Given the description of an element on the screen output the (x, y) to click on. 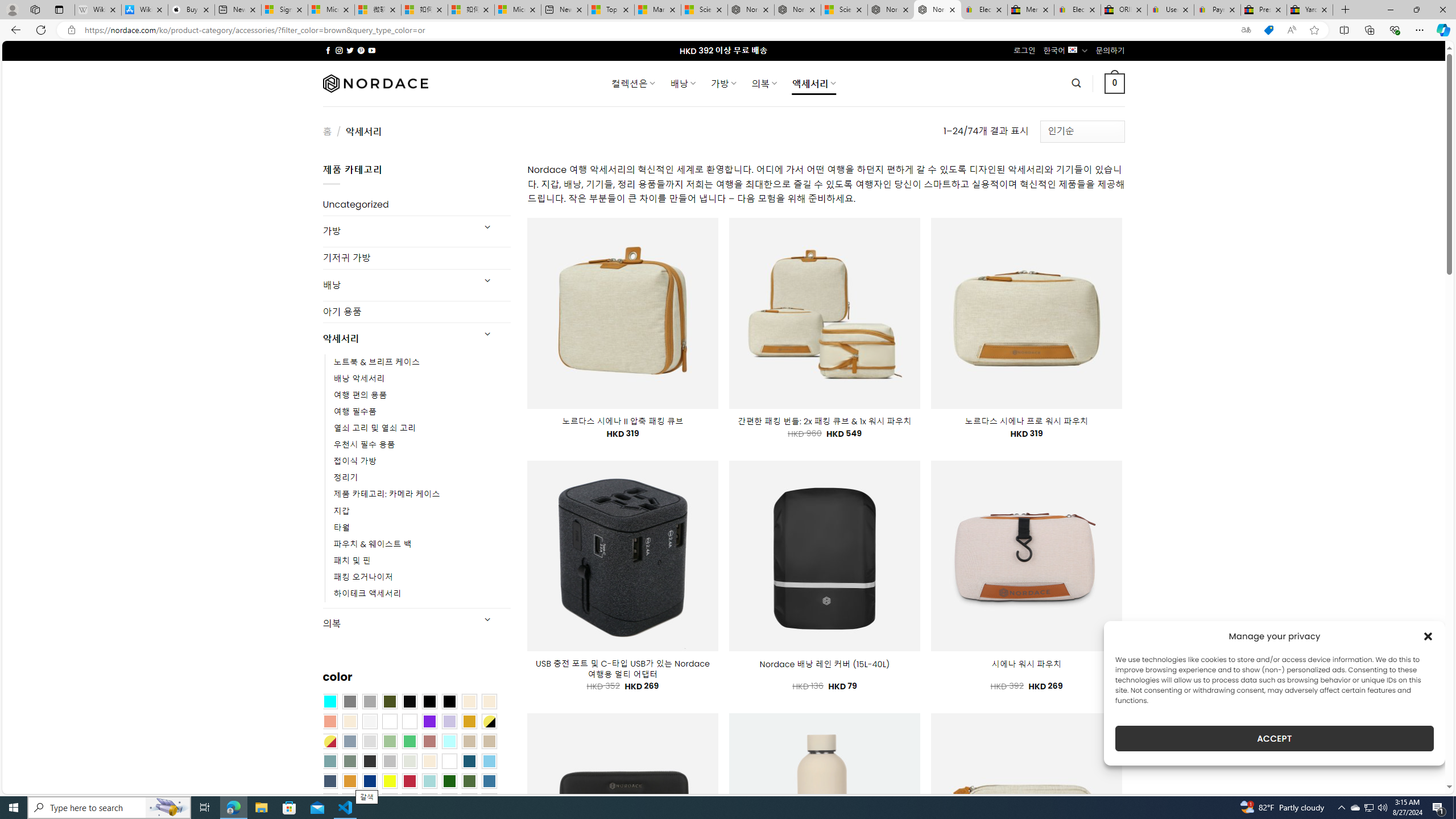
  0   (1115, 83)
Follow on Facebook (327, 50)
